Given the description of an element on the screen output the (x, y) to click on. 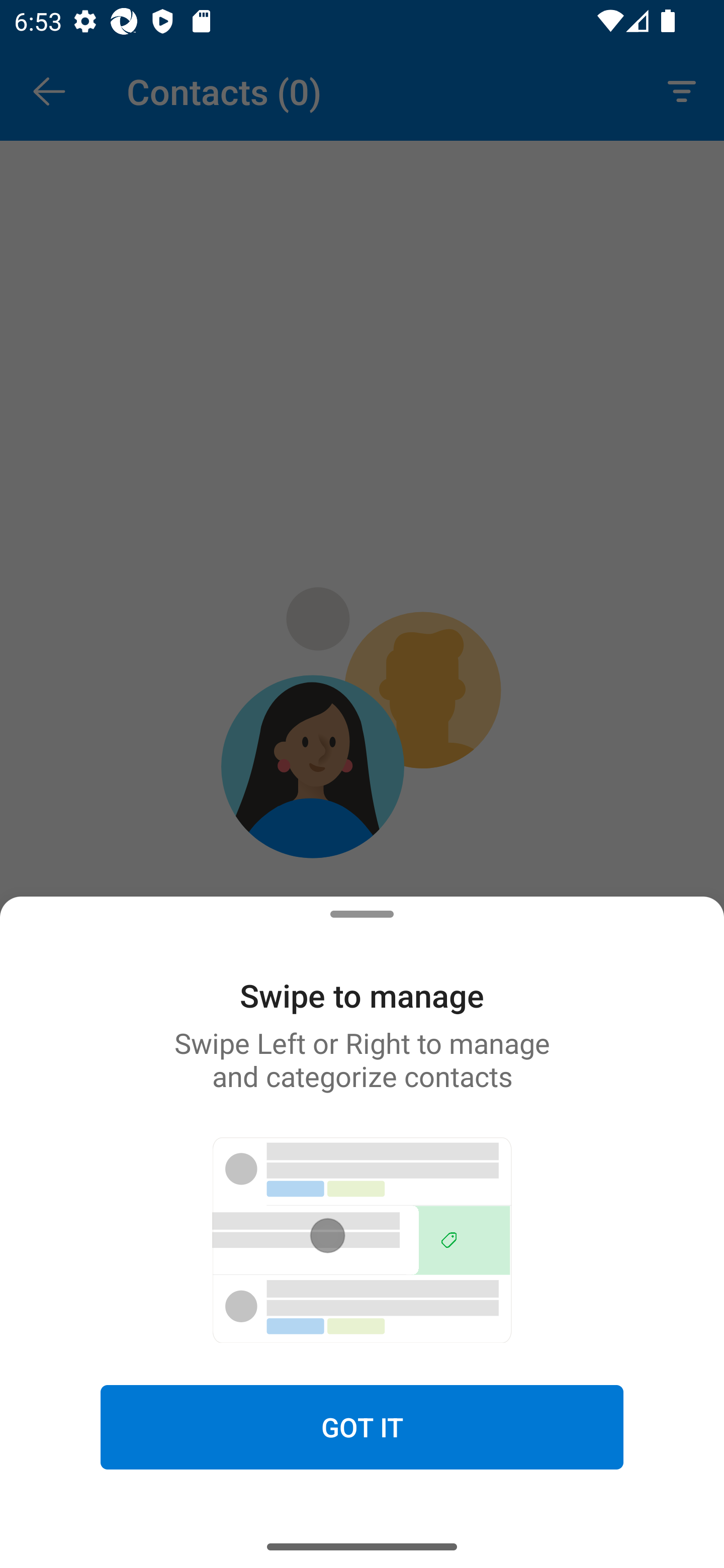
GOT IT (361, 1426)
